Given the description of an element on the screen output the (x, y) to click on. 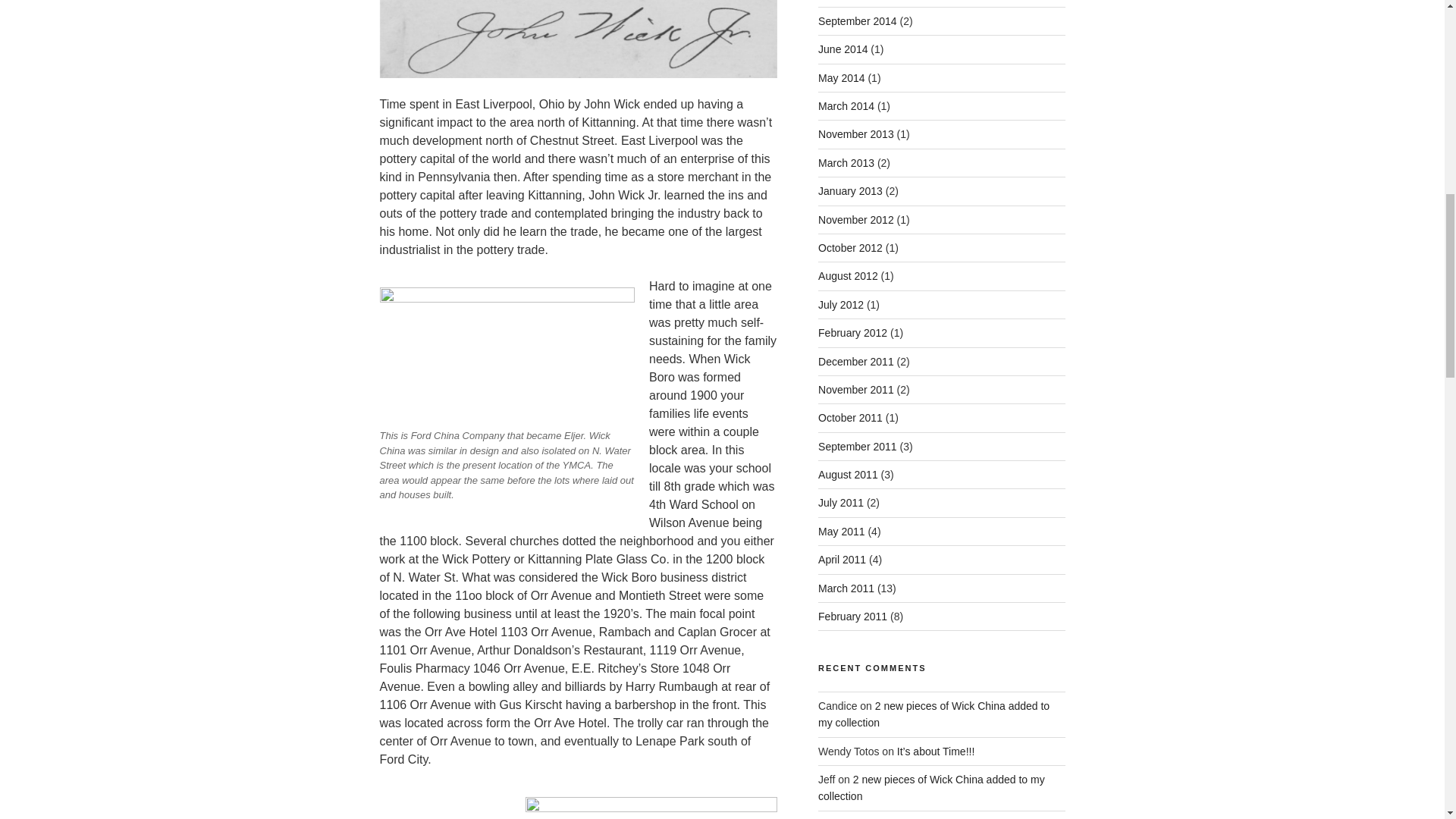
wick business thb (651, 807)
May 2014 (841, 78)
March 2014 (846, 105)
June 2014 (842, 49)
September 2014 (857, 21)
November 2013 (855, 133)
March 2013 (846, 162)
